Given the description of an element on the screen output the (x, y) to click on. 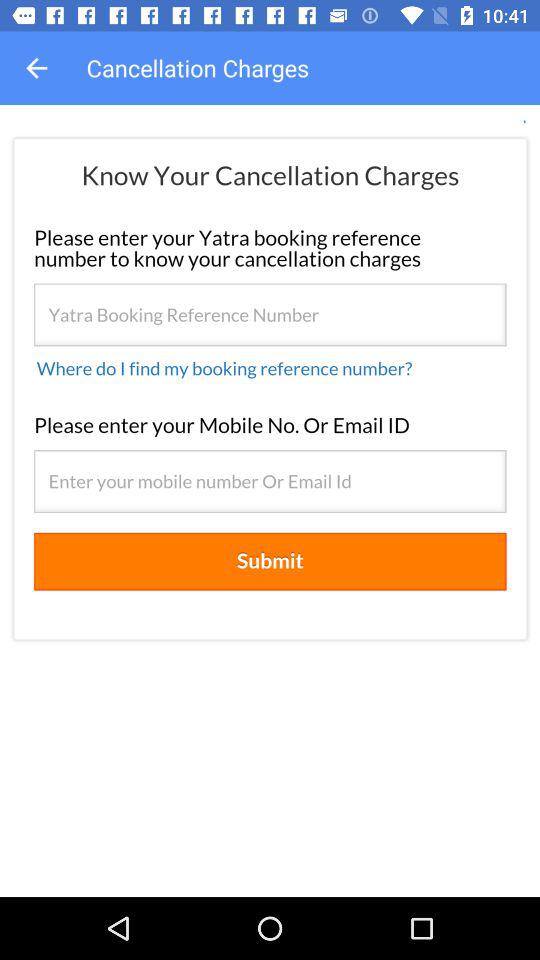
back (36, 68)
